Given the description of an element on the screen output the (x, y) to click on. 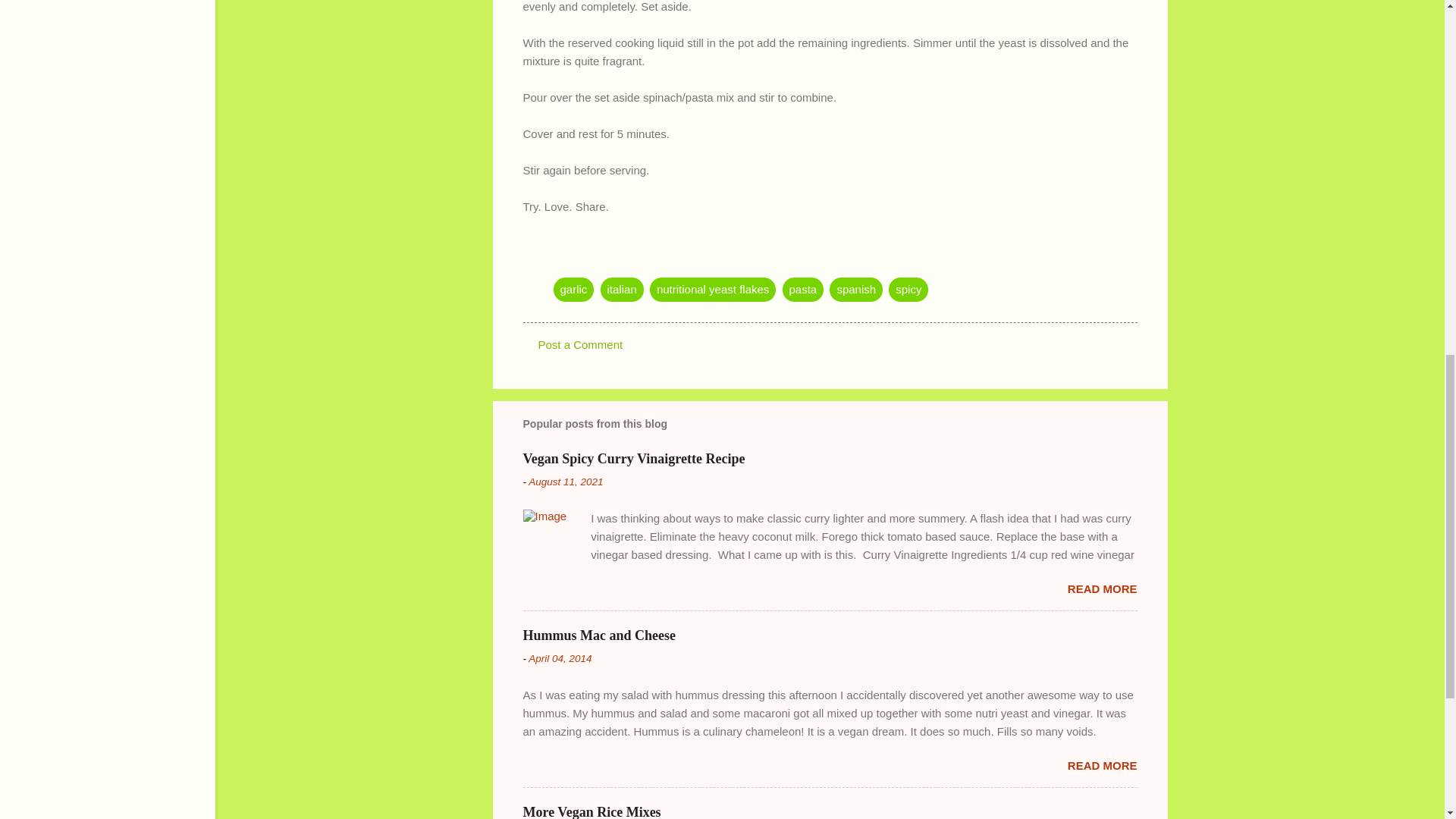
Hummus Mac and Cheese (599, 635)
spicy (908, 289)
Email Post (562, 257)
permanent link (565, 481)
pasta (803, 289)
garlic (573, 289)
Post a Comment (580, 344)
More Vegan Rice Mixes (591, 811)
italian (621, 289)
August 11, 2021 (565, 481)
April 04, 2014 (559, 658)
Vegan Spicy Curry Vinaigrette Recipe (633, 458)
READ MORE (1102, 765)
nutritional yeast flakes (712, 289)
spanish (855, 289)
